Given the description of an element on the screen output the (x, y) to click on. 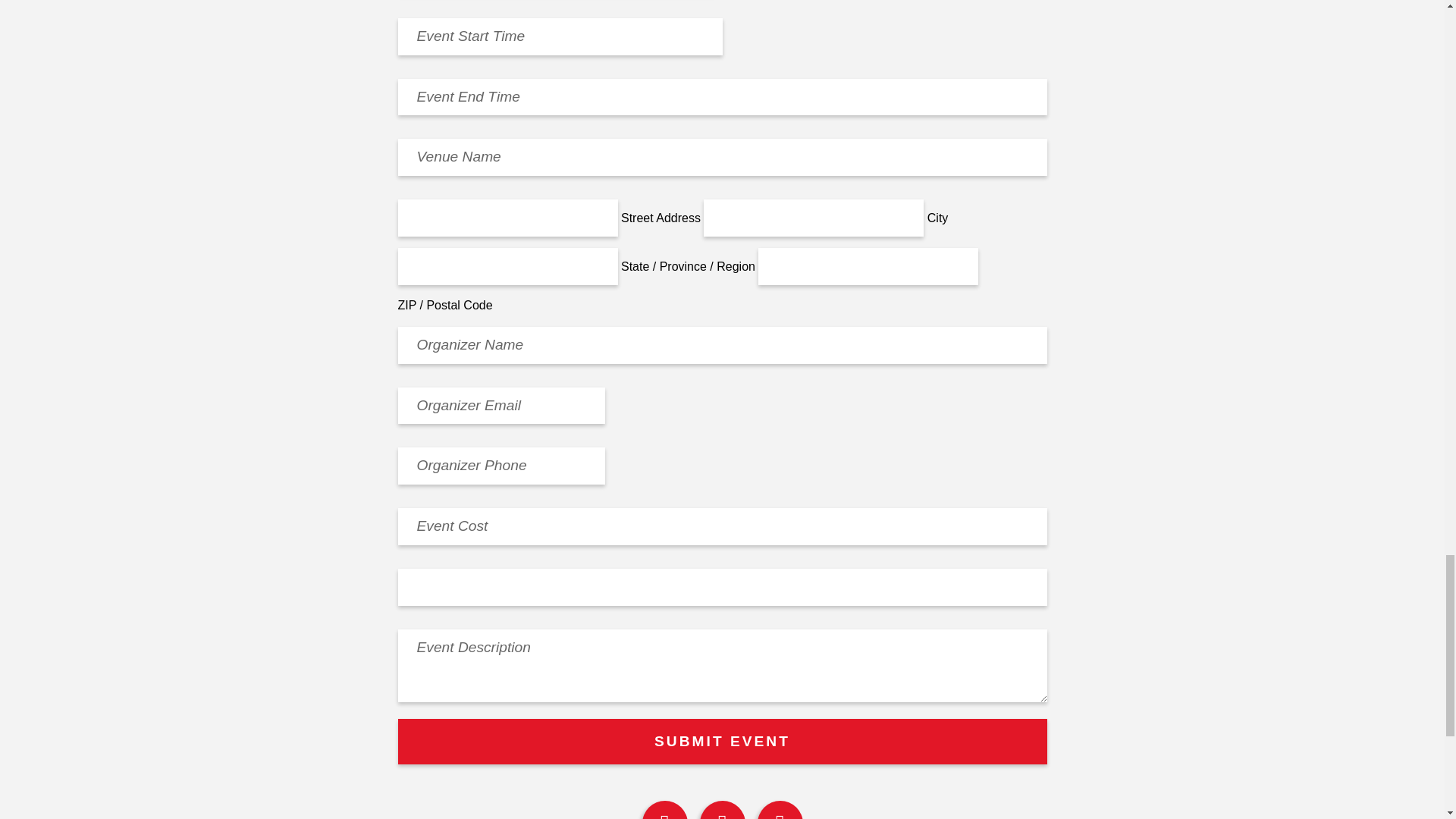
Submit Event (721, 741)
